Given the description of an element on the screen output the (x, y) to click on. 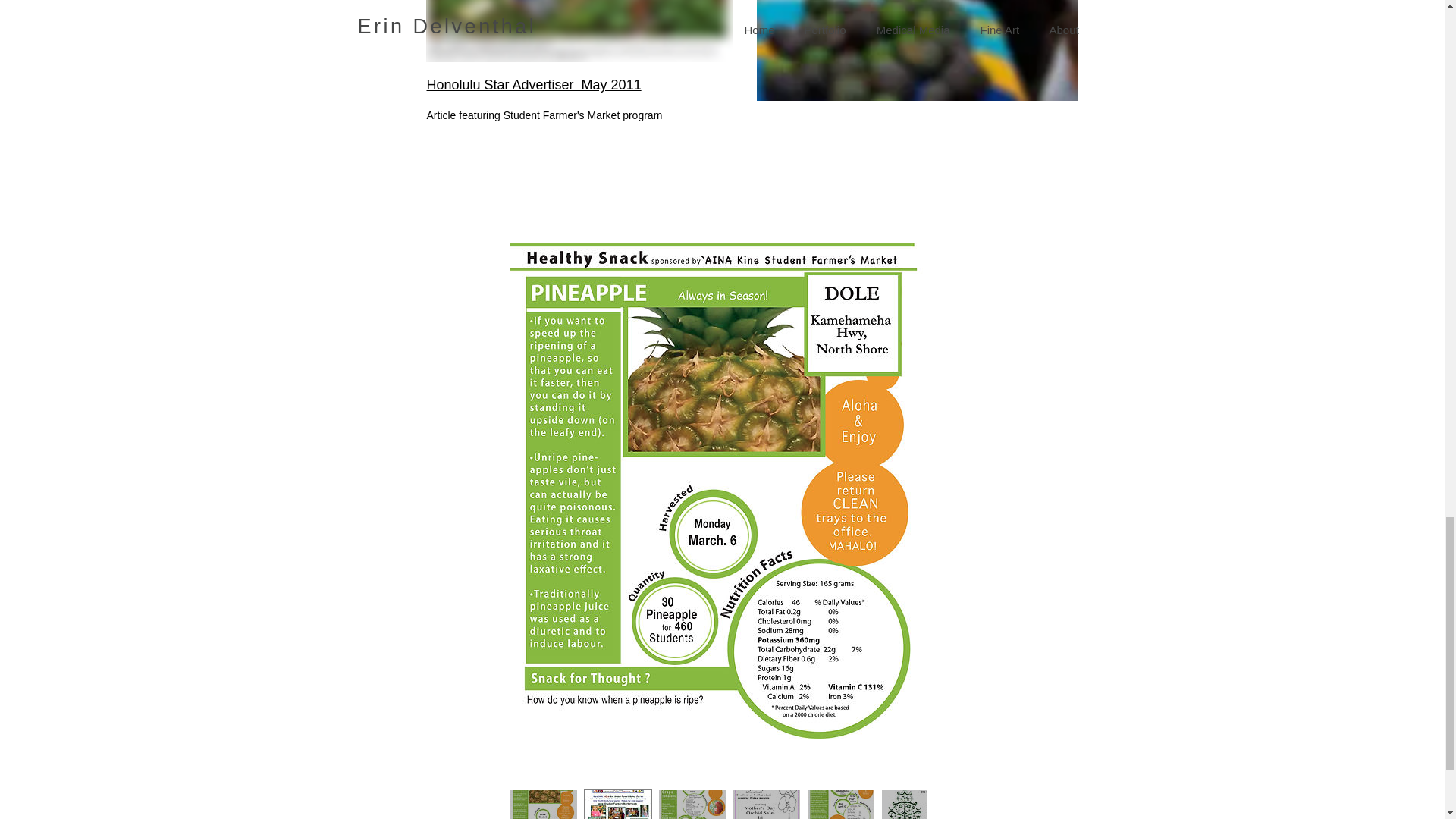
Screen Shot 2016-05-17 at 2.41.11 PM.png (579, 31)
Honolulu Star Advertiser  May 2011 (533, 84)
